Given the description of an element on the screen output the (x, y) to click on. 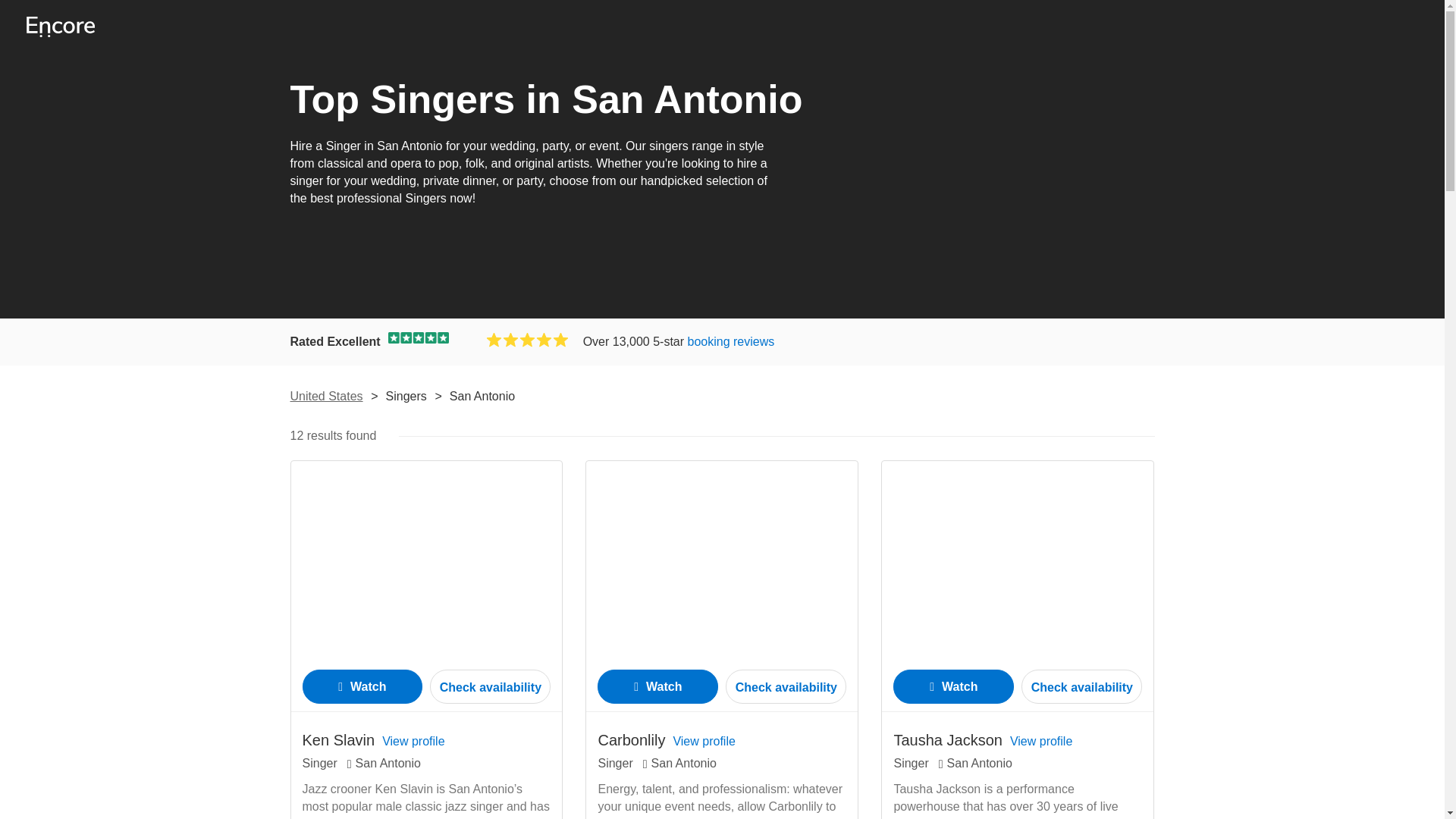
Watch (953, 686)
Check availability (489, 686)
booking reviews (730, 341)
Watch (361, 686)
Watch (656, 686)
CarbonlilyView profile (665, 740)
Ken SlavinView profile (372, 740)
Tausha JacksonView profile (982, 740)
Check availability (785, 686)
United States (325, 395)
